Given the description of an element on the screen output the (x, y) to click on. 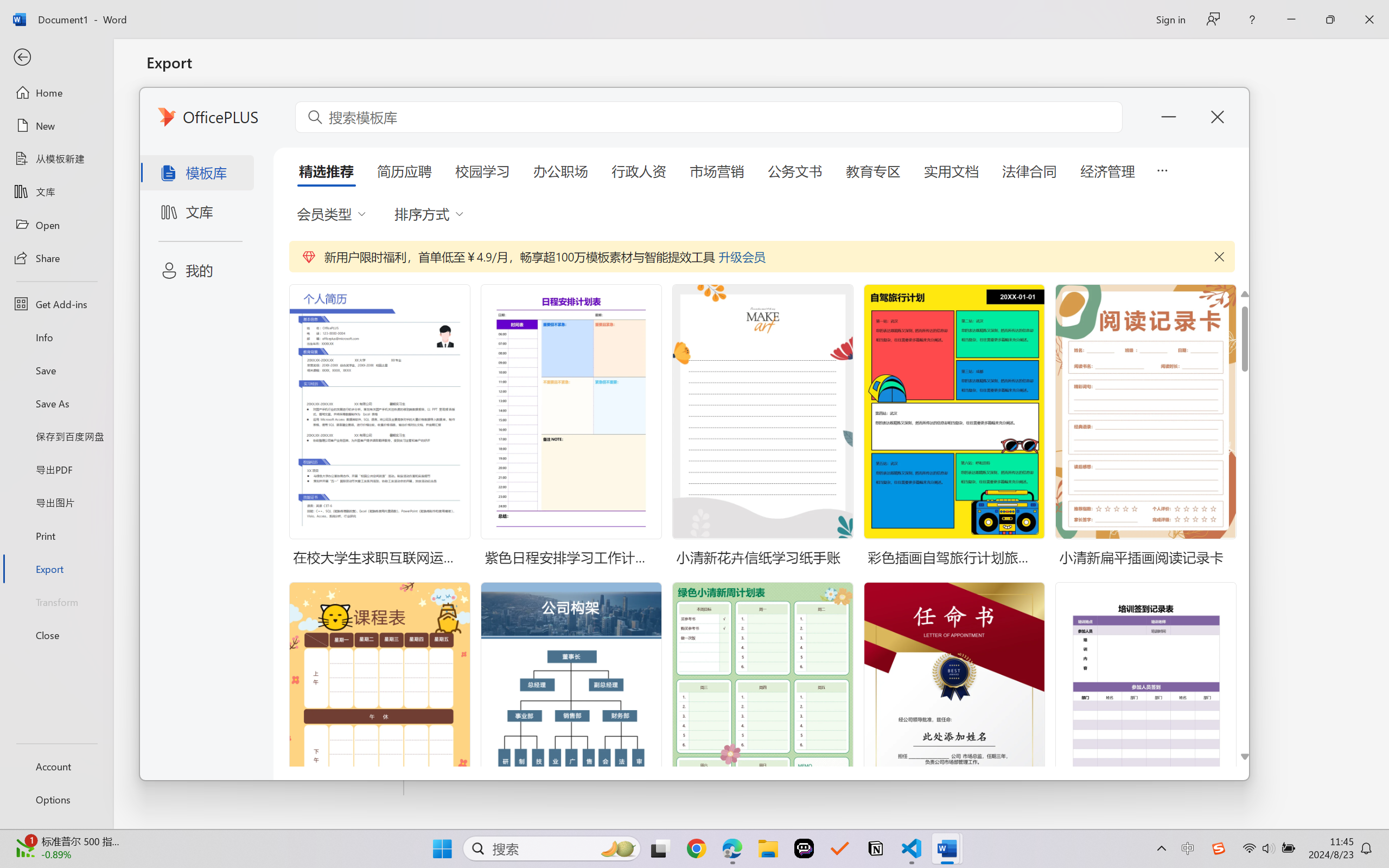
Transform (56, 601)
Print (56, 535)
